Given the description of an element on the screen output the (x, y) to click on. 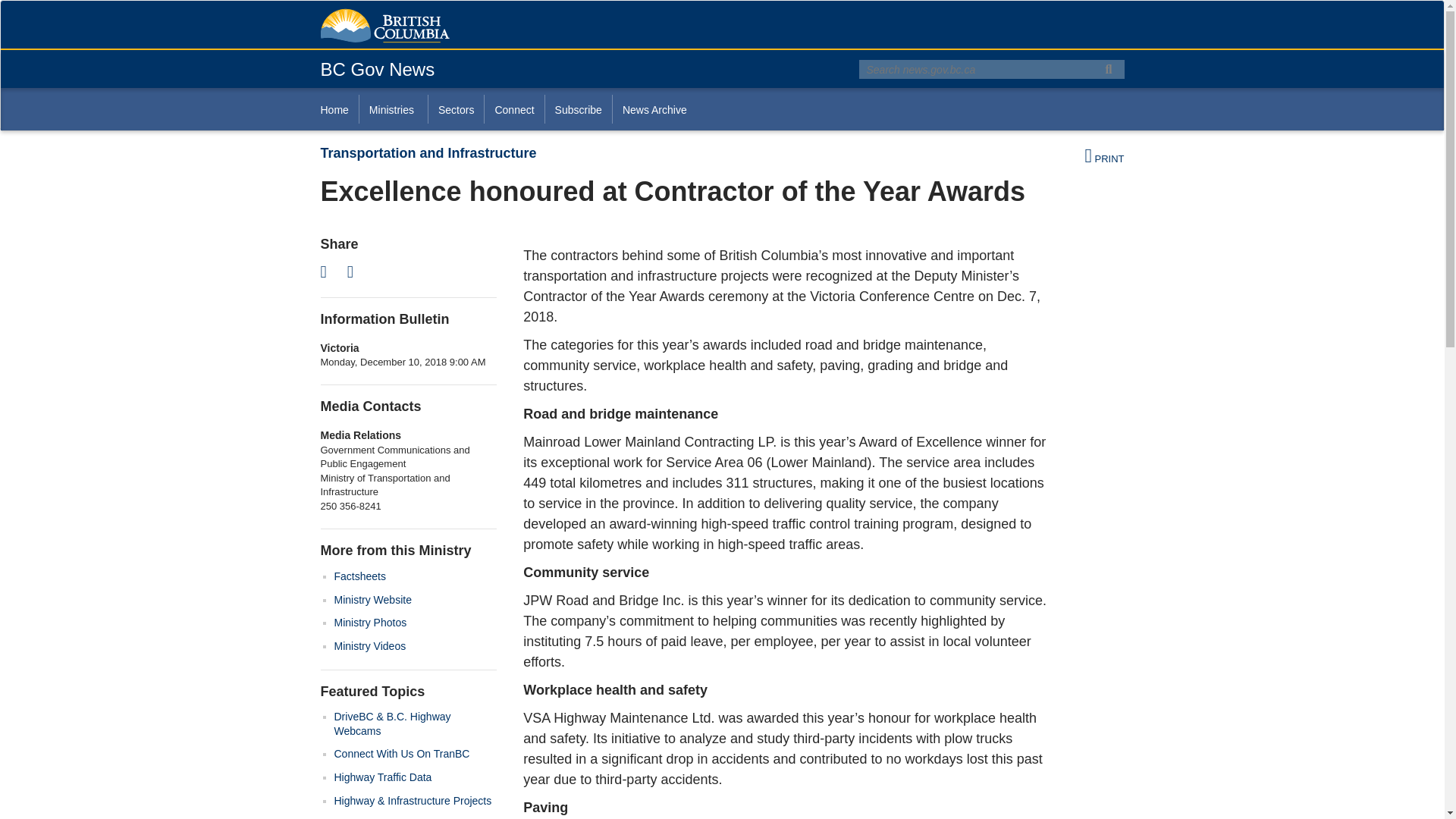
Government of B.C. (384, 25)
Ministries (393, 109)
Sectors (455, 109)
News Archive (654, 109)
Subscribe (577, 109)
BC Gov News (376, 68)
Connect (513, 109)
Home (339, 109)
